Given the description of an element on the screen output the (x, y) to click on. 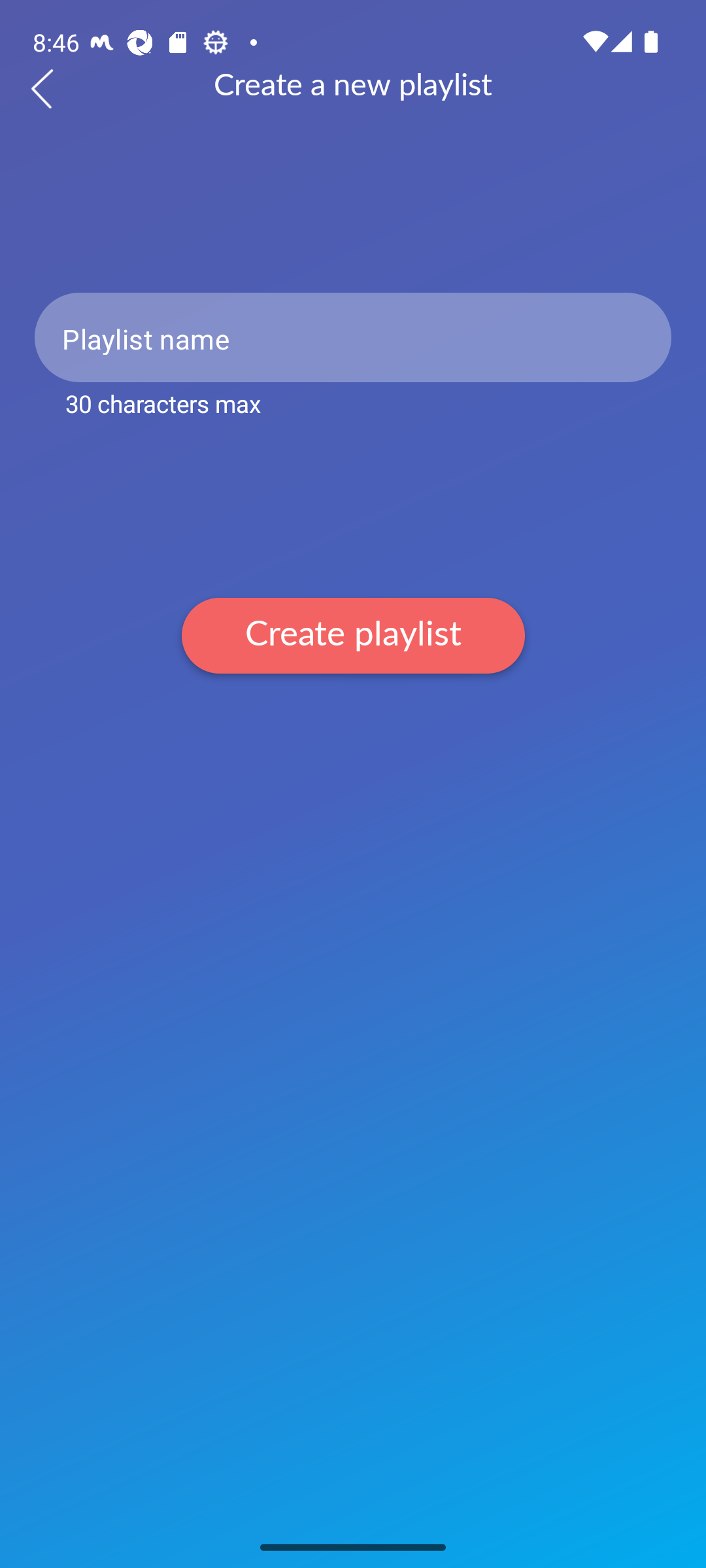
Playlist name (352, 337)
Create playlist (353, 634)
